Given the description of an element on the screen output the (x, y) to click on. 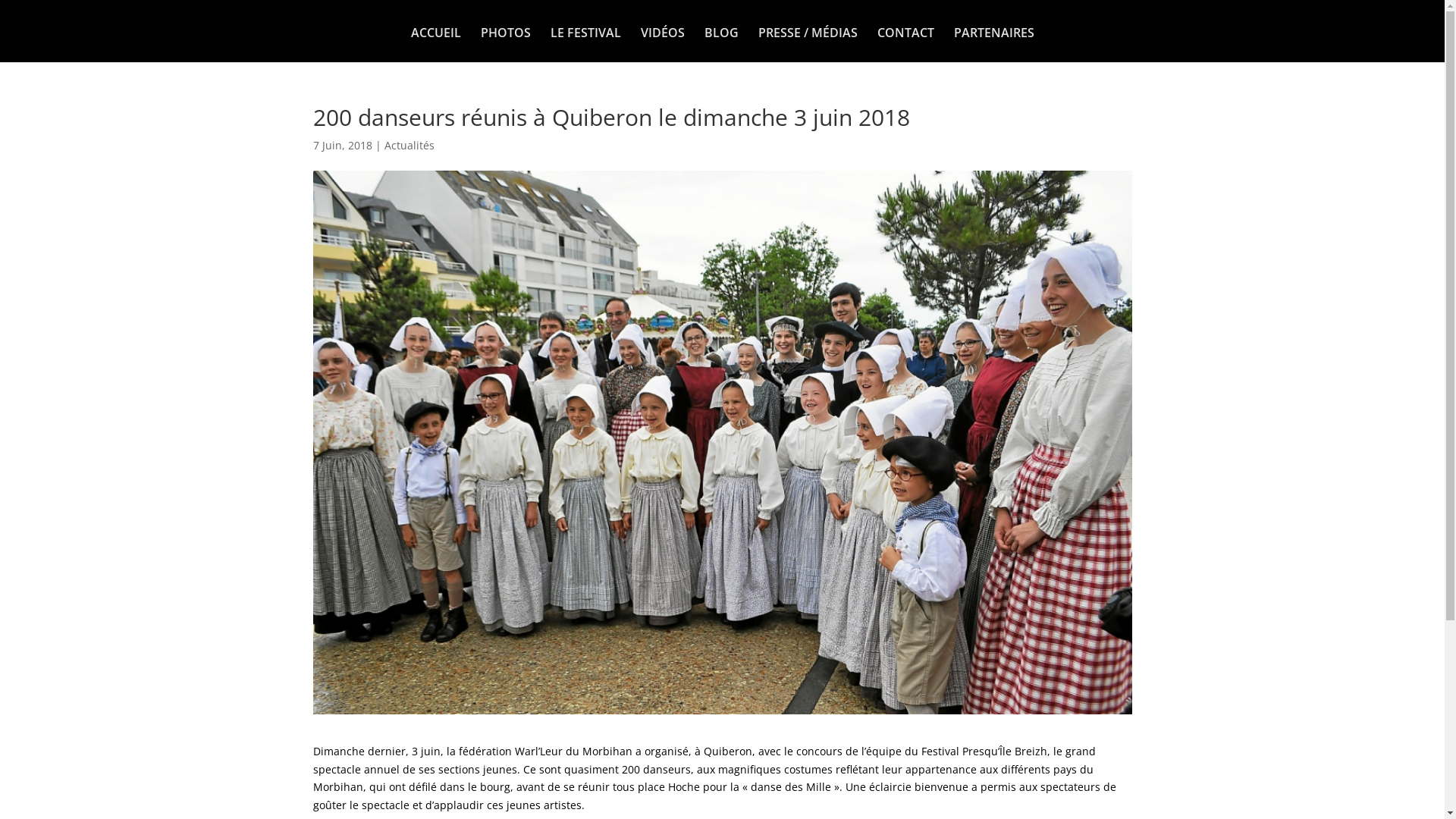
CONTACT Element type: text (904, 44)
BLOG Element type: text (720, 44)
LE FESTIVAL Element type: text (585, 44)
PHOTOS Element type: text (505, 44)
ACCUEIL Element type: text (436, 44)
PARTENAIRES Element type: text (993, 44)
